Given the description of an element on the screen output the (x, y) to click on. 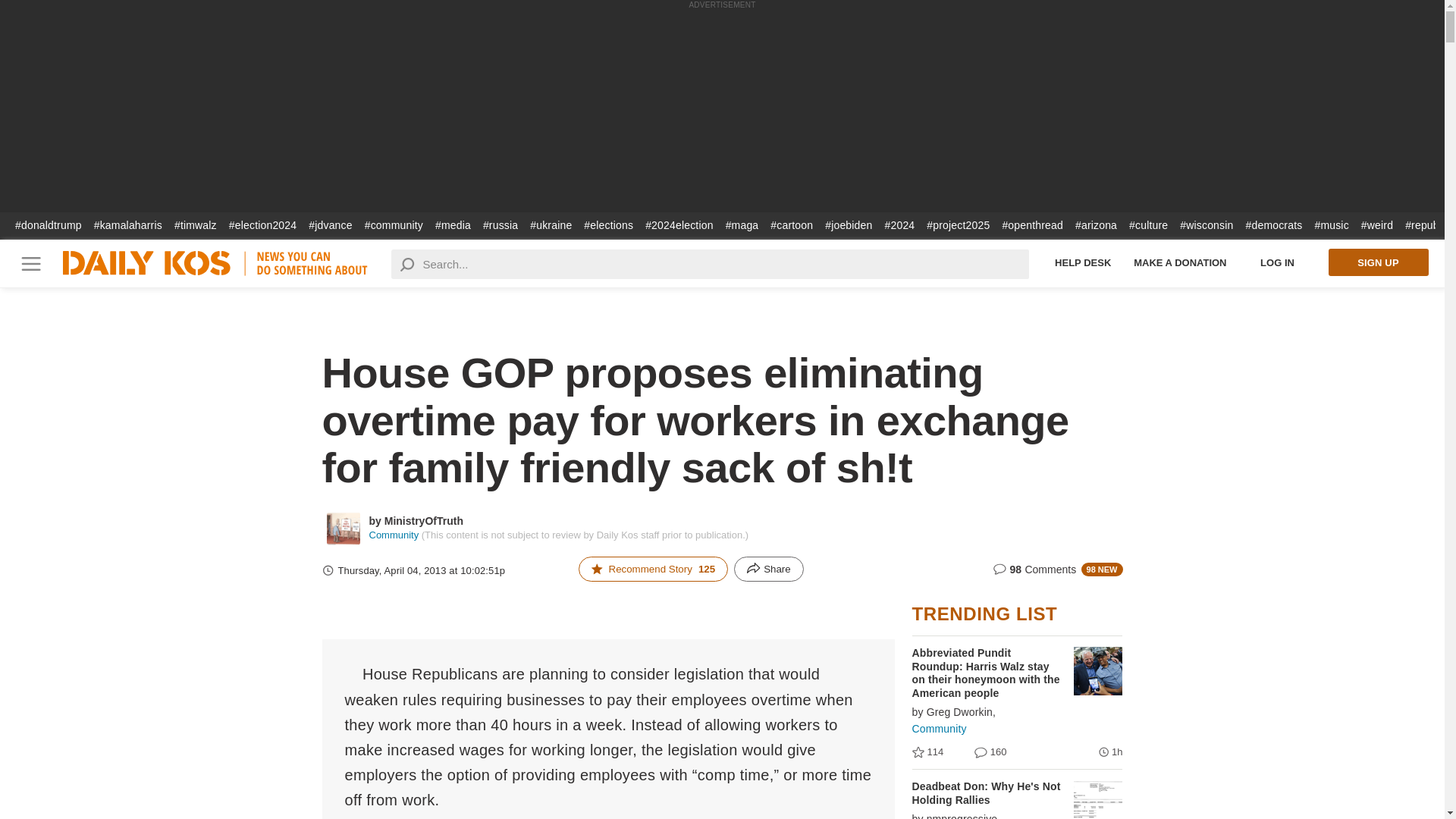
Help Desk (1082, 262)
Make a Donation (1179, 262)
MAKE A DONATION (1179, 262)
